Given the description of an element on the screen output the (x, y) to click on. 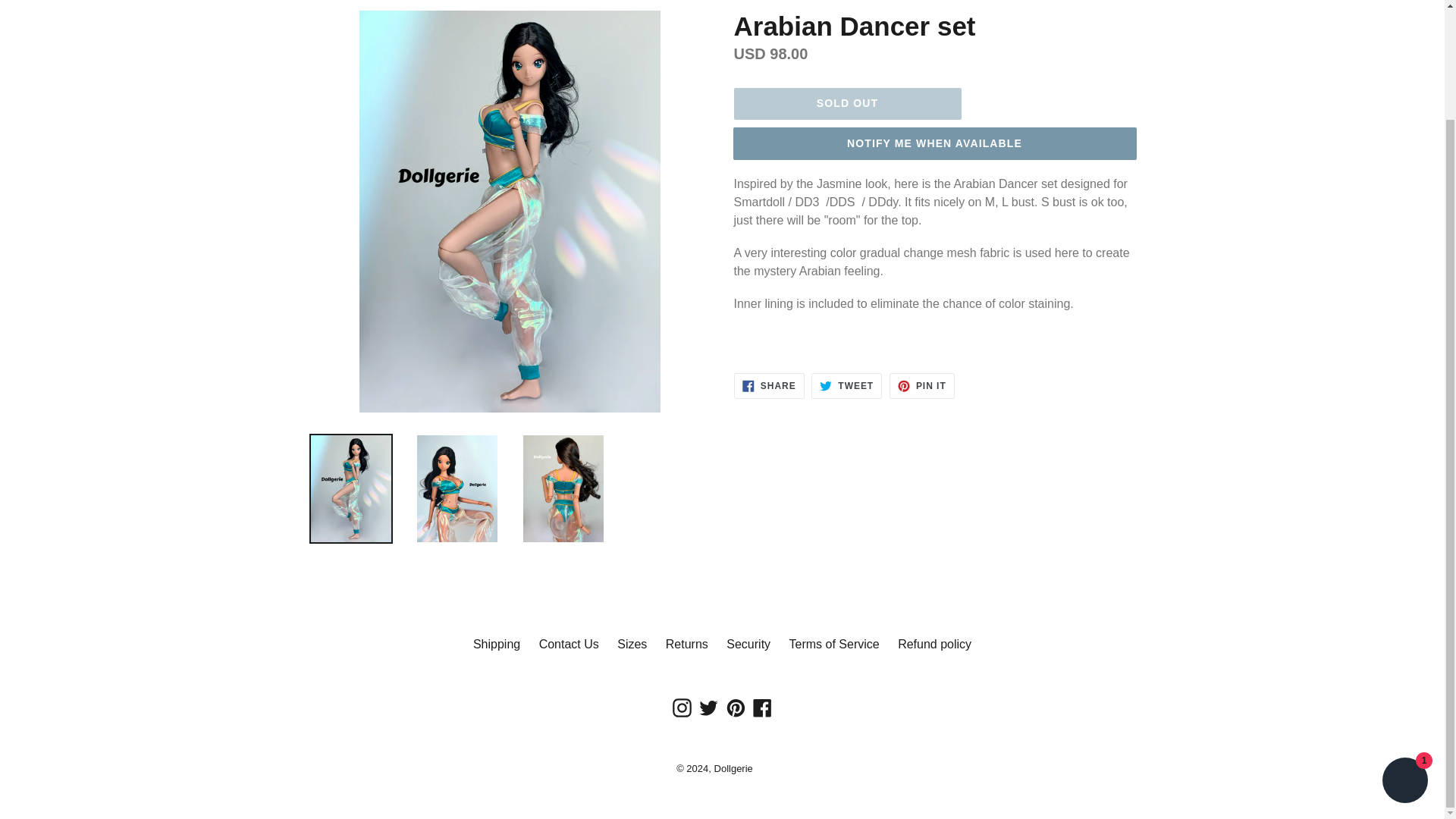
Pin on Pinterest (922, 385)
NOTIFY ME WHEN AVAILABLE (933, 143)
Terms of Service (834, 644)
Share on Facebook (769, 385)
Shipping (496, 644)
Tweet on Twitter (846, 385)
Dollgerie on Facebook (762, 706)
Shopify online store chat (1404, 653)
Refund policy (934, 644)
Dollgerie on Instagram (681, 706)
Returns (686, 644)
SOLD OUT (846, 103)
Instagram (681, 706)
Twitter (708, 706)
